Given the description of an element on the screen output the (x, y) to click on. 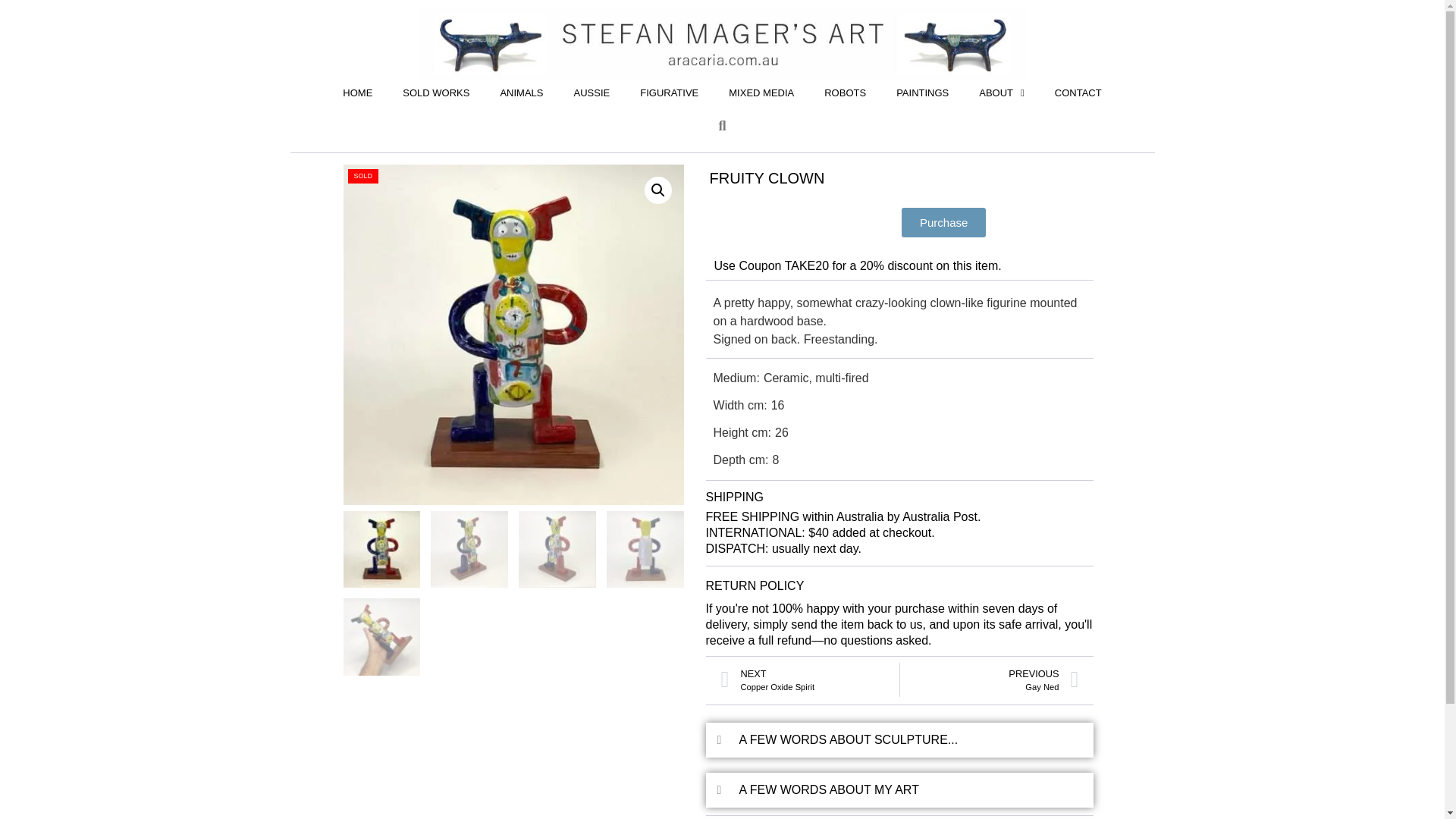
FIGURATIVE (988, 679)
Purchase (668, 93)
ABOUT (943, 222)
ROBOTS (809, 679)
SOLD WORKS (1001, 93)
CONTACT (844, 93)
A FEW WORDS ABOUT MY ART (435, 93)
4B1102E9-5614-4F61-A097-FA1B46EA5453 (1077, 93)
ANIMALS (828, 789)
A FEW WORDS ABOUT SCULPTURE... (512, 334)
PAINTINGS (520, 93)
AUSSIE (848, 739)
EDF4B32F-6240-49EC-BF6B-505B6D93A069 (921, 93)
